Given the description of an element on the screen output the (x, y) to click on. 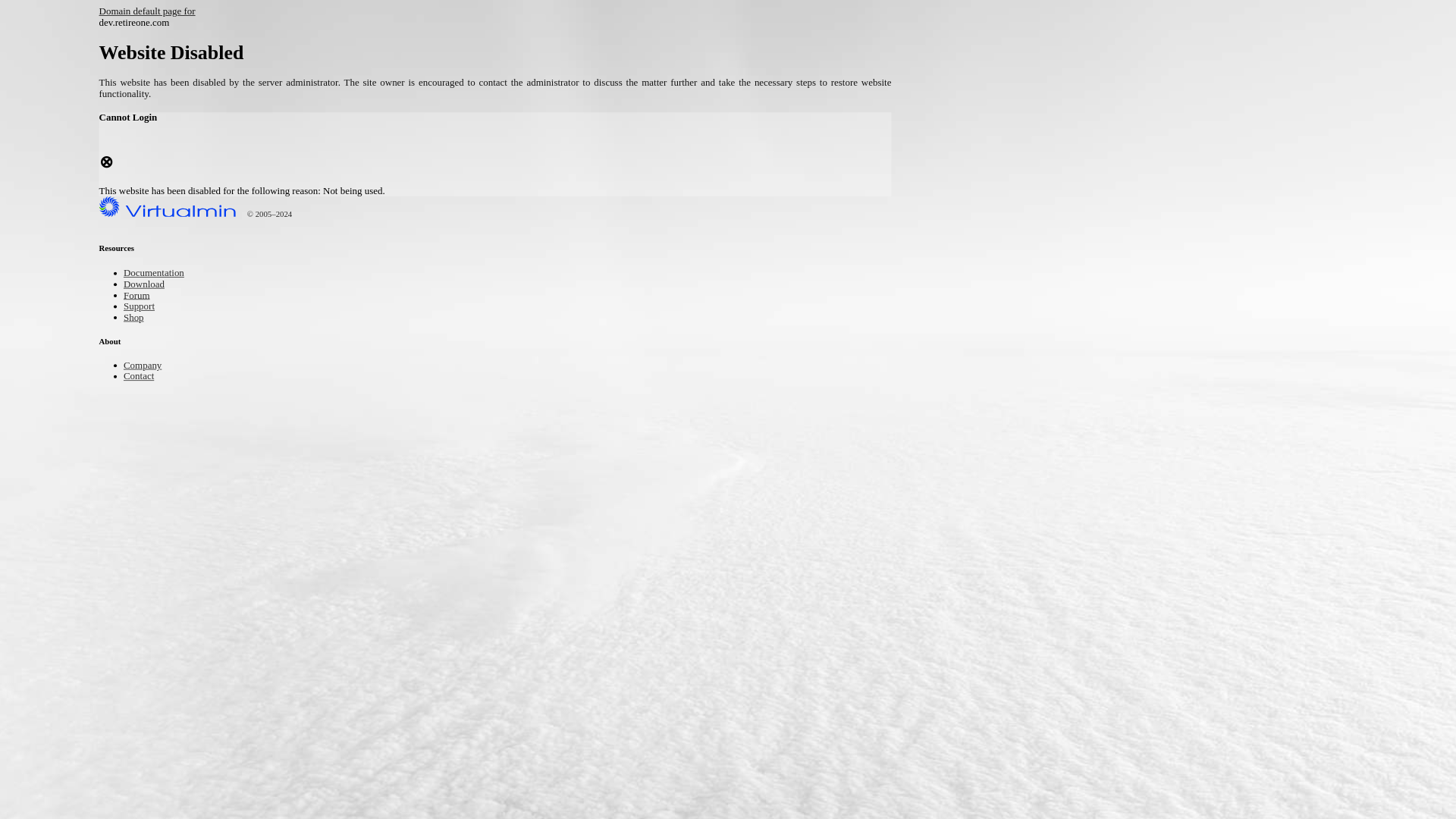
Domain default page for (158, 11)
Support (142, 306)
Forum (139, 295)
Download (148, 284)
Company (146, 366)
Shop (135, 318)
Documentation (160, 273)
Contact (142, 377)
